Given the description of an element on the screen output the (x, y) to click on. 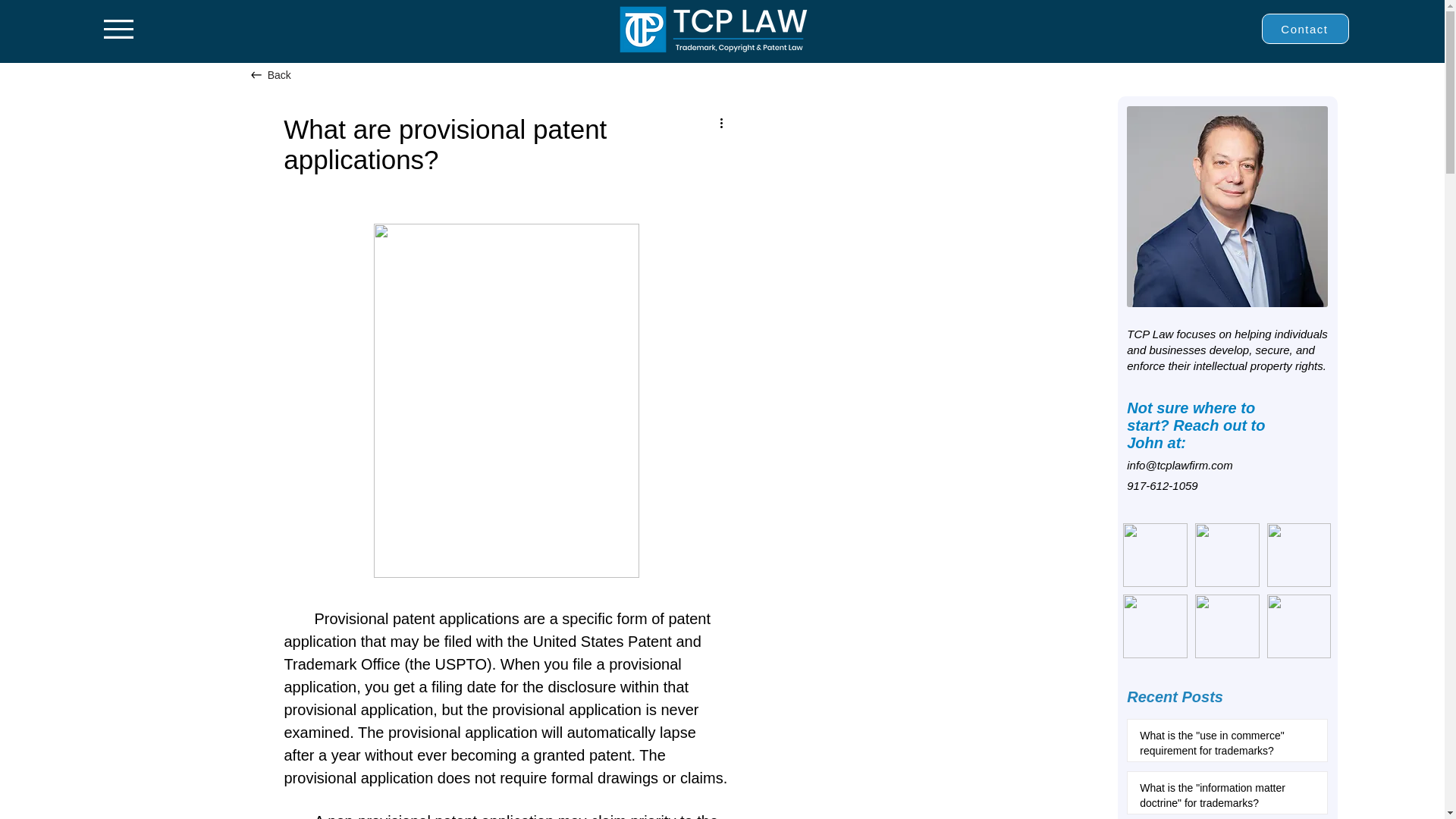
What is the "information matter doctrine" for trademarks? (1223, 798)
Back (288, 74)
Contact (1305, 28)
Not sure where to start? Reach out to  John at: (1197, 425)
917-612-1059 (1161, 485)
What is the "use in commerce" requirement for trademarks? (1223, 746)
